Given the description of an element on the screen output the (x, y) to click on. 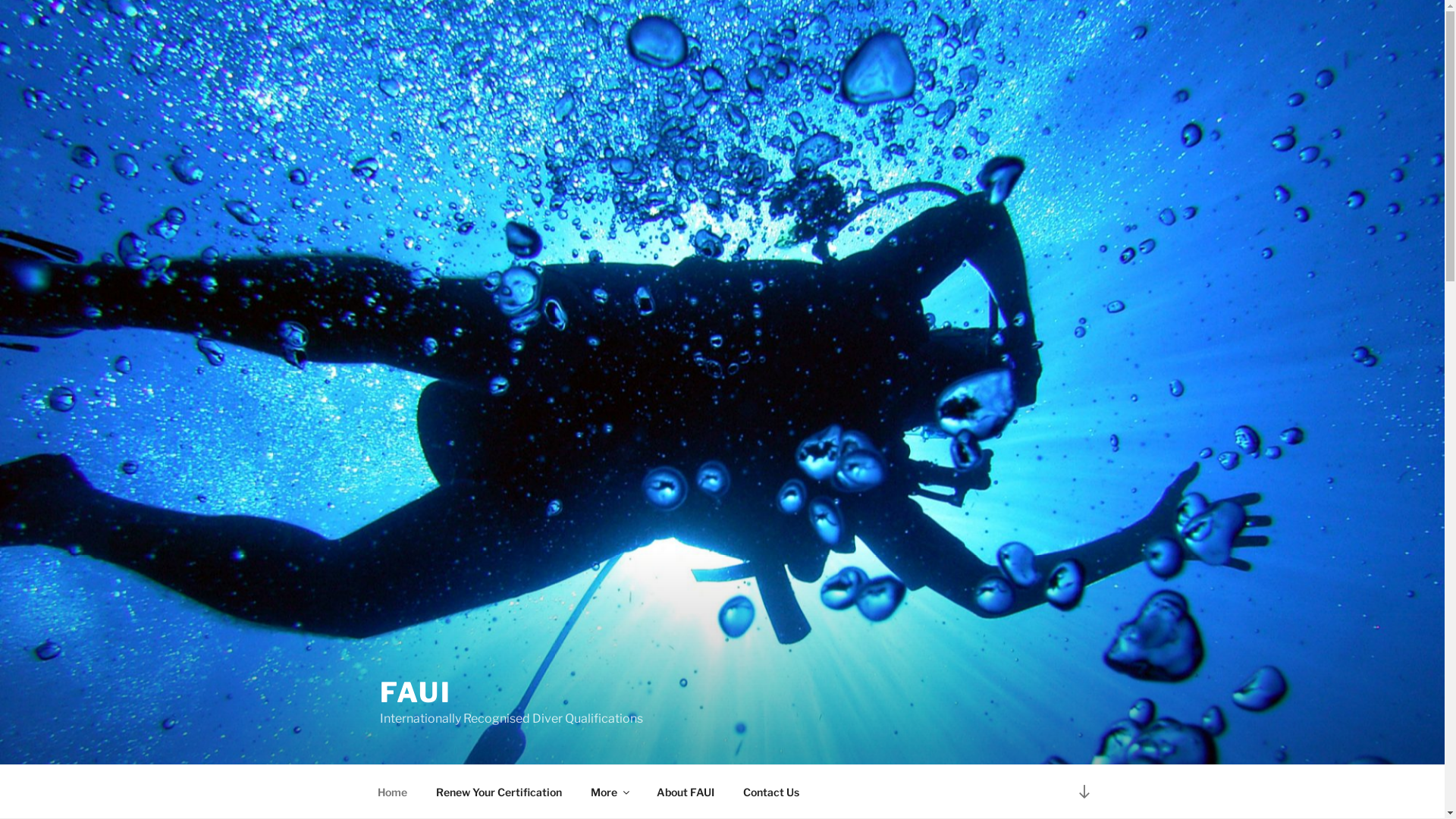
Renew Your Certification Element type: text (499, 791)
Home Element type: text (392, 791)
Contact Us Element type: text (770, 791)
About FAUI Element type: text (685, 791)
More Element type: text (609, 791)
FAUI Element type: text (415, 692)
Scroll down to content Element type: text (1083, 790)
